Given the description of an element on the screen output the (x, y) to click on. 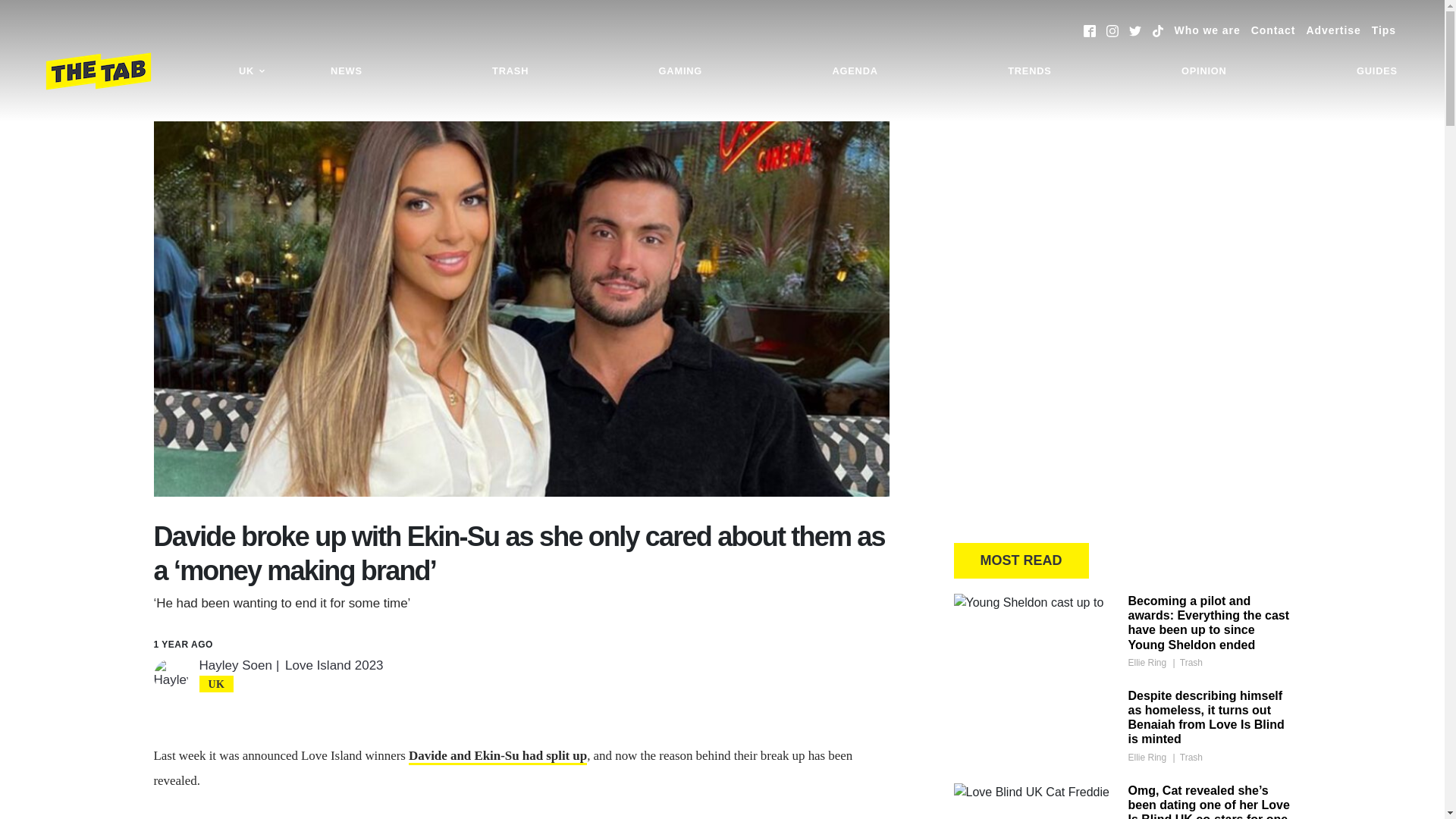
UK (252, 71)
Contact (1272, 29)
GUIDES (1377, 71)
Advertise (1332, 29)
TRASH (510, 71)
Who we are (1207, 29)
TRENDS (1028, 71)
Tips (1383, 29)
NEWS (346, 71)
OPINION (1204, 71)
